Given the description of an element on the screen output the (x, y) to click on. 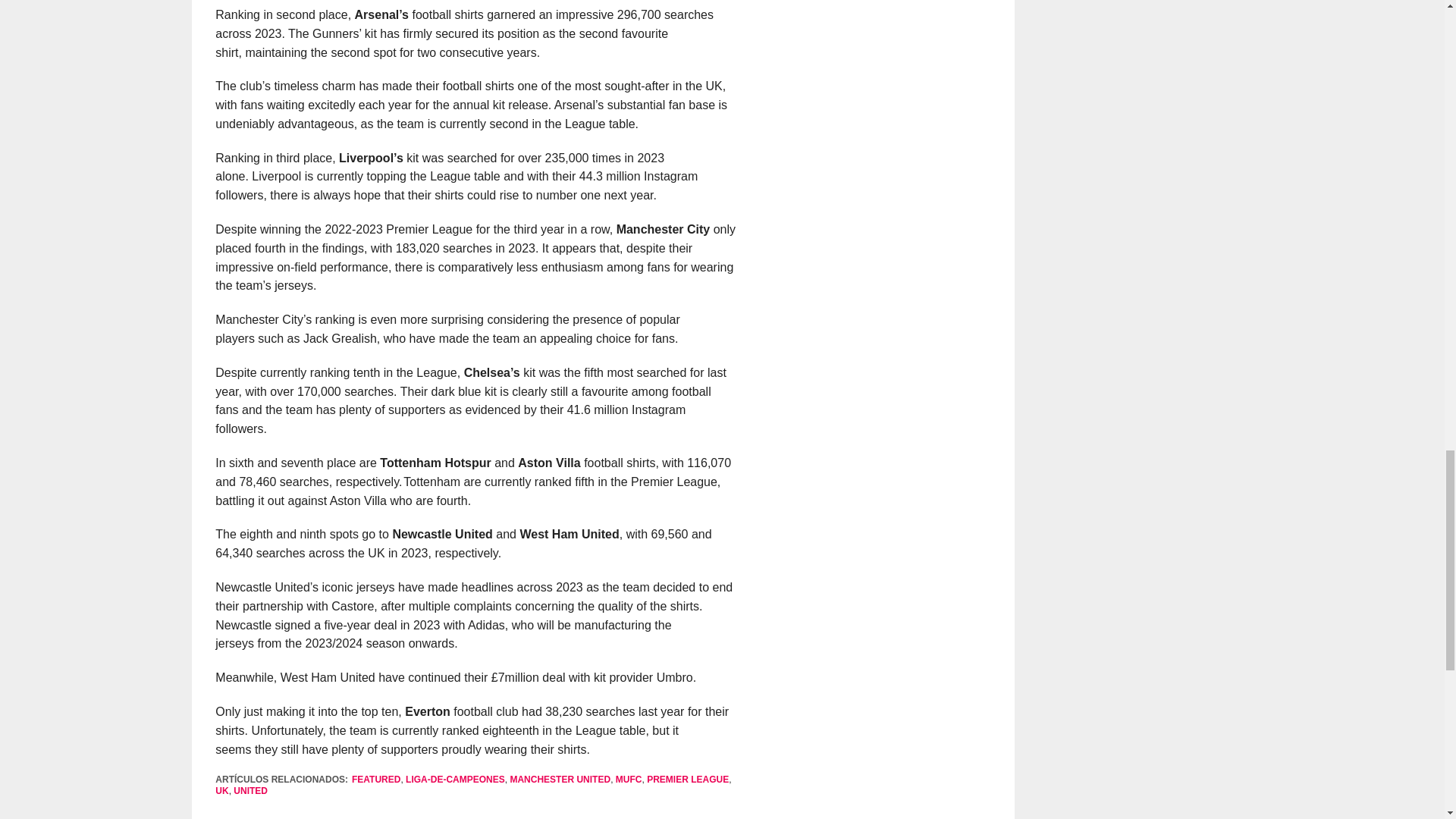
MUFC (628, 778)
UNITED (249, 790)
FEATURED (376, 778)
UK (221, 790)
MANCHESTER UNITED (559, 778)
LIGA-DE-CAMPEONES (455, 778)
PREMIER LEAGUE (687, 778)
